Given the description of an element on the screen output the (x, y) to click on. 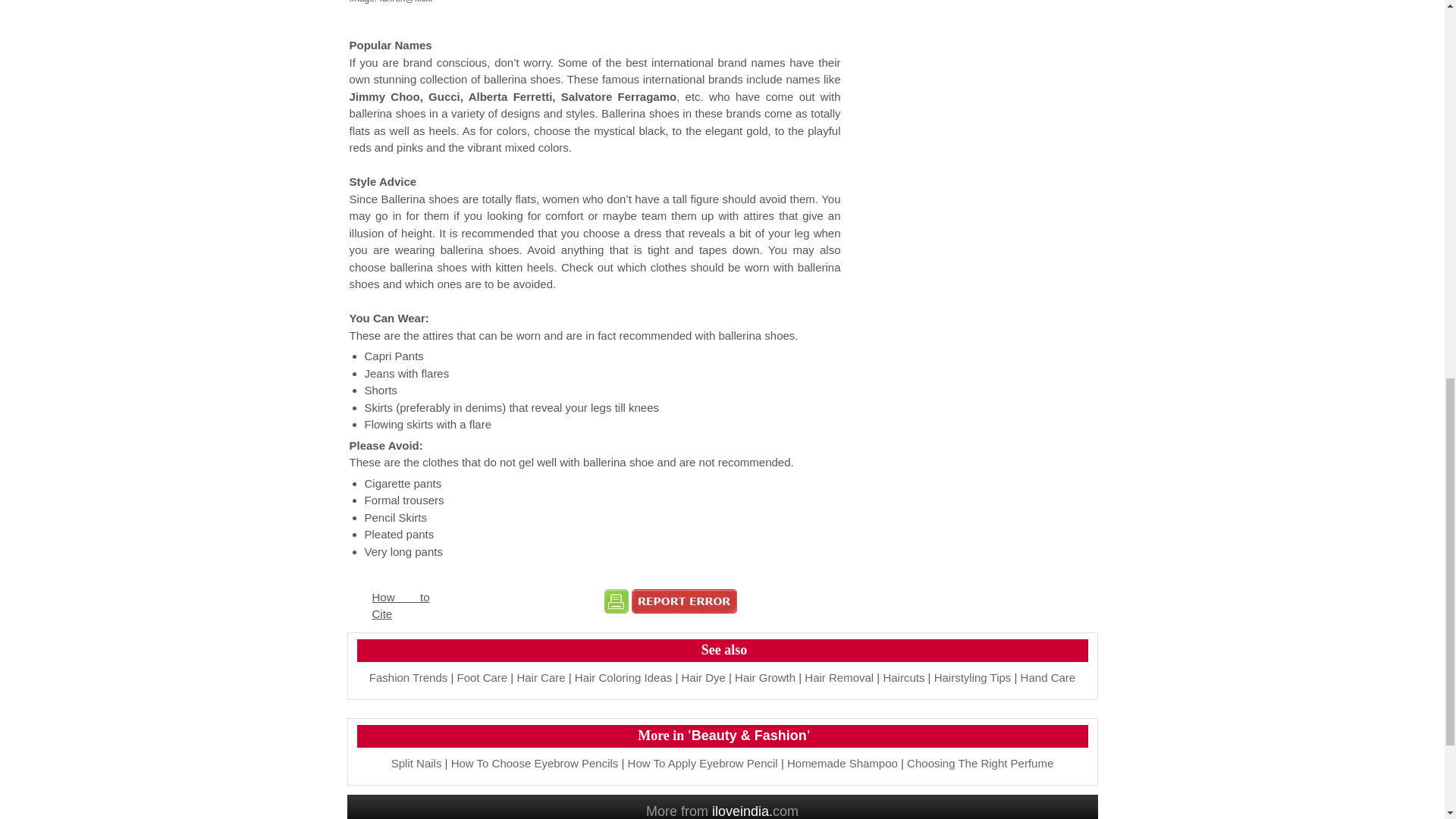
Hair Care (540, 676)
Foot Care (481, 676)
Hair Coloring Ideas (623, 676)
Hair Removal (839, 676)
Hair Dye (703, 676)
Haircuts (903, 676)
Hair Growth (764, 676)
Fashion Trends (407, 676)
